Given the description of an element on the screen output the (x, y) to click on. 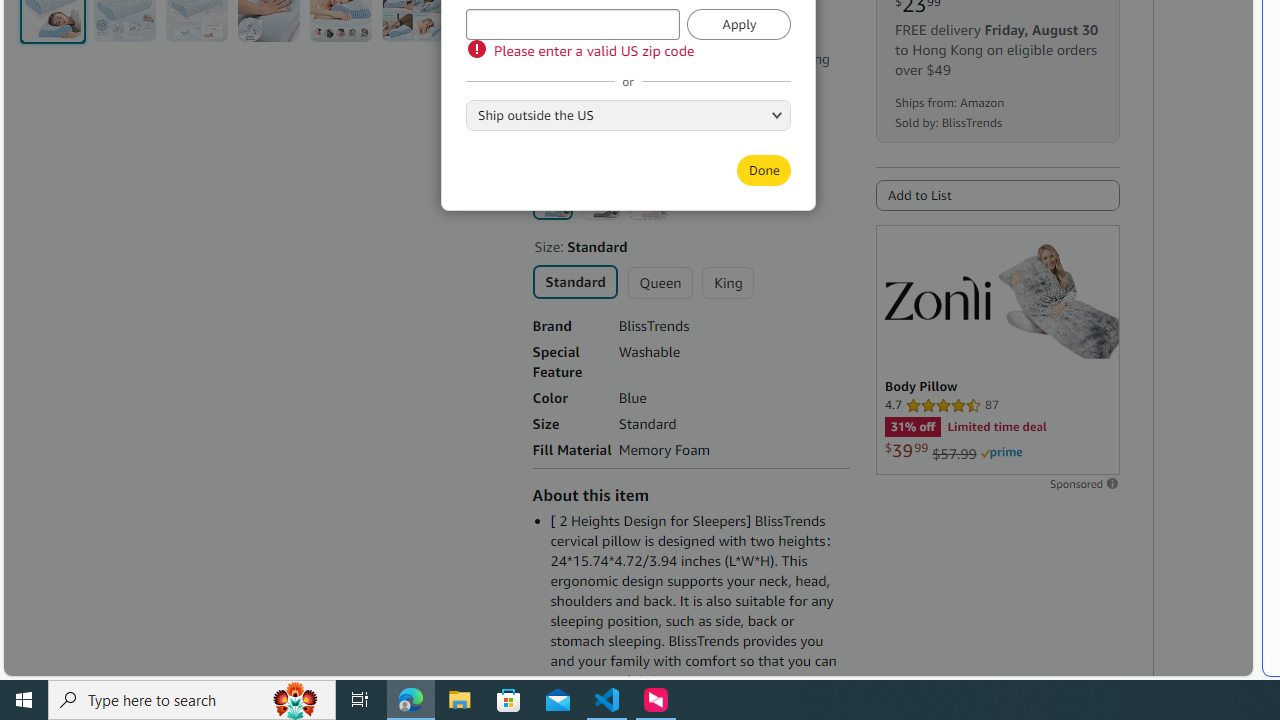
Pink (647, 200)
Prime (1001, 453)
King (727, 282)
Apply (739, 24)
Grey (600, 200)
Logo (937, 297)
Learn more about Amazon pricing and savings (634, 32)
Done (763, 170)
Shop items (577, 125)
Blue (551, 199)
AutomationID: GLUXCountryList (628, 114)
Terms (658, 125)
Grey (600, 200)
Add to List (997, 195)
